Given the description of an element on the screen output the (x, y) to click on. 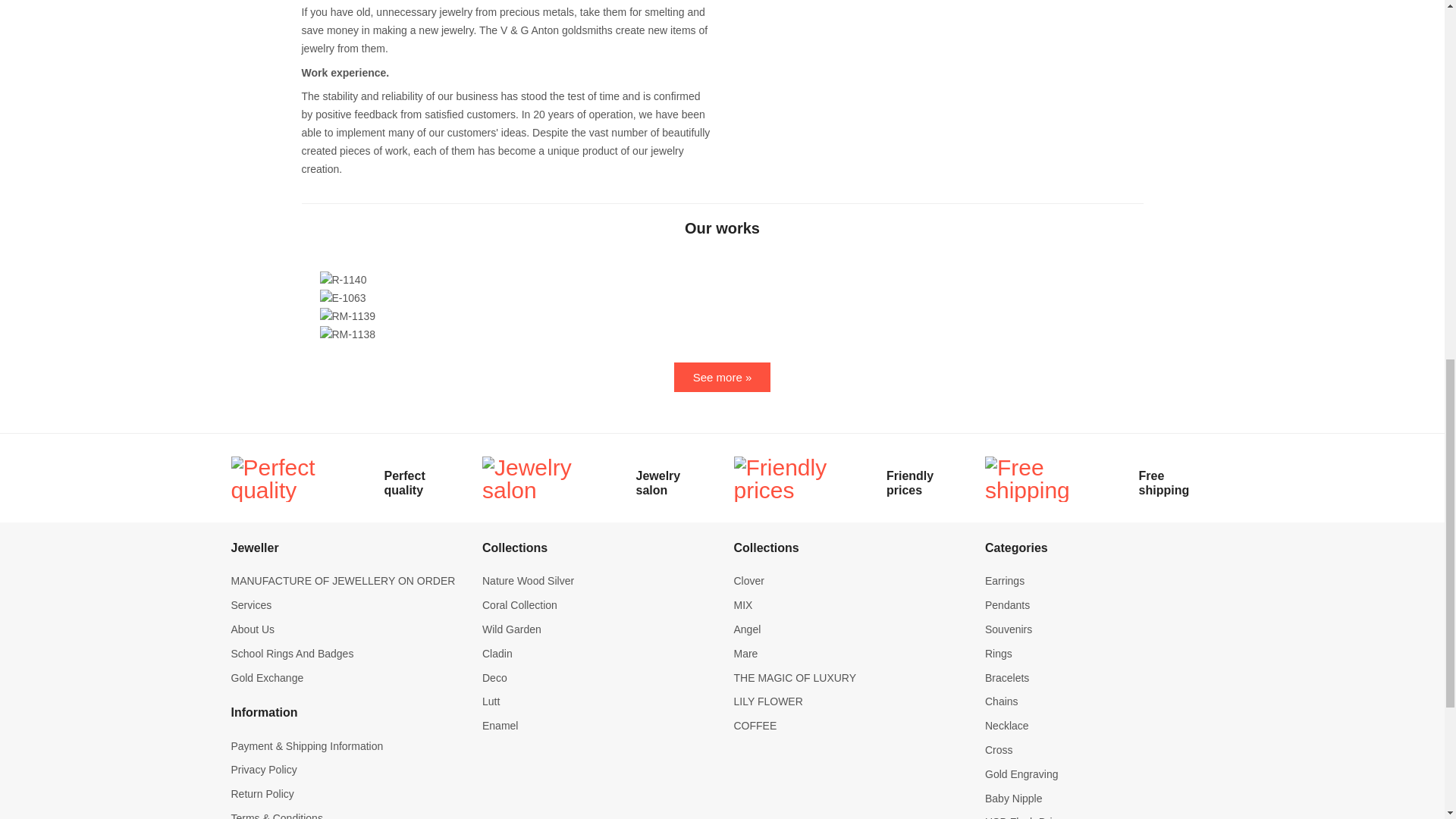
RM-1138 (347, 334)
	E-1063 (343, 298)
	R-1140 (343, 280)
RM-1139 (347, 316)
